Given the description of an element on the screen output the (x, y) to click on. 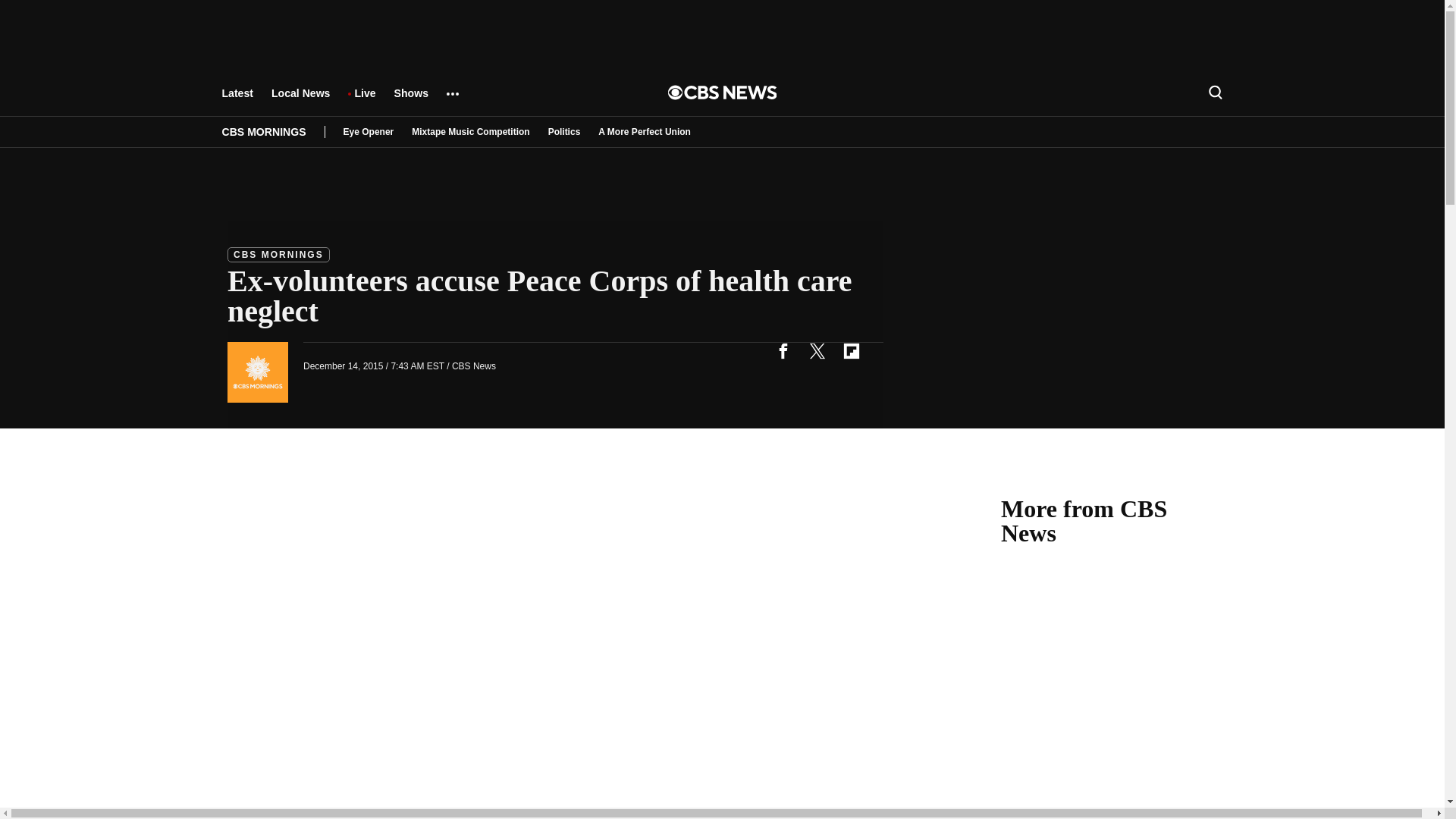
Local News (300, 100)
twitter (816, 350)
flipboard (850, 350)
Latest (236, 100)
facebook (782, 350)
